Given the description of an element on the screen output the (x, y) to click on. 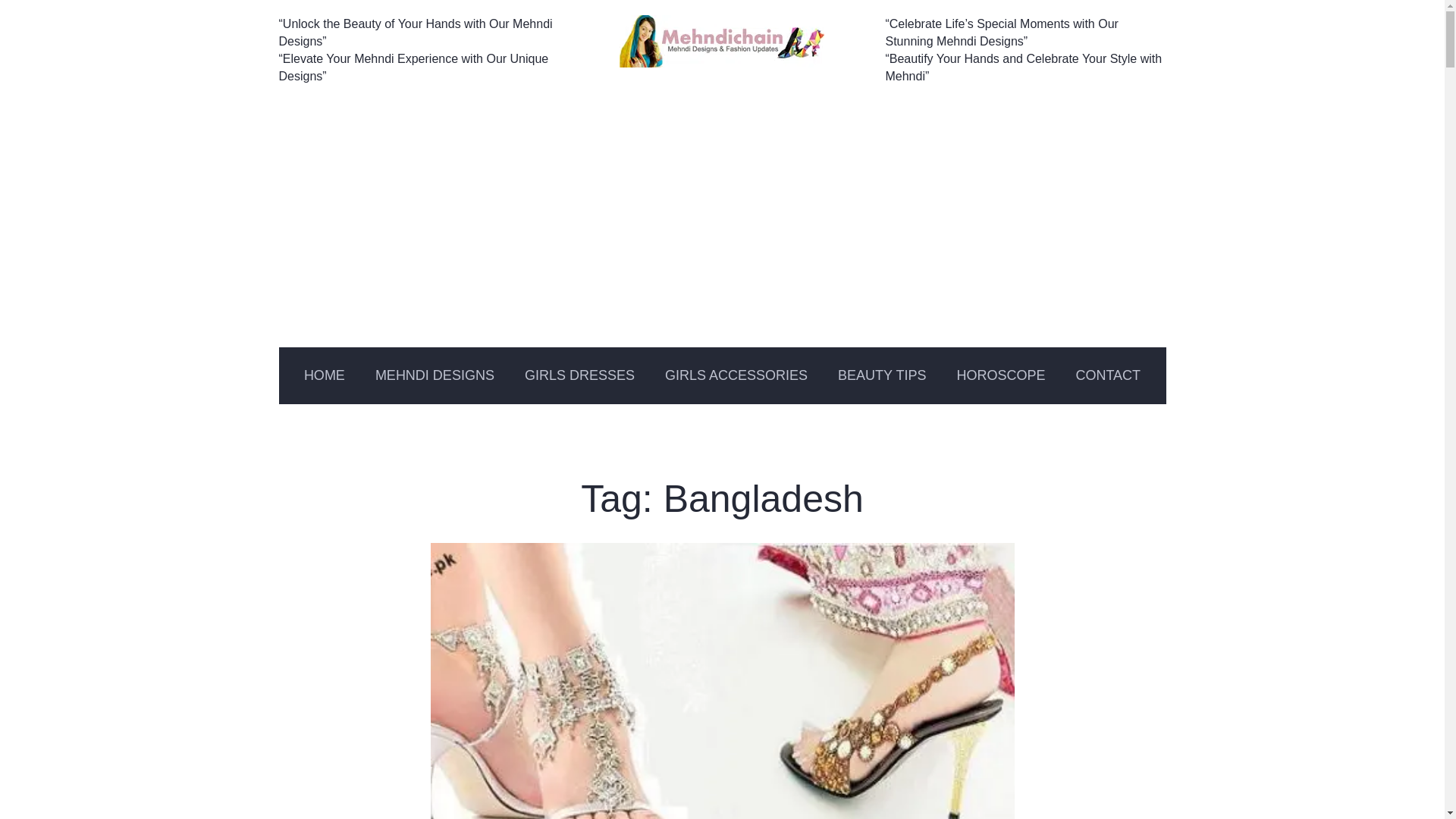
CONTACT (1107, 375)
HOROSCOPE (999, 375)
MEHNDI DESIGNS (434, 375)
GIRLS DRESSES (579, 375)
GIRLS ACCESSORIES (735, 375)
HOME (323, 375)
BEAUTY TIPS (881, 375)
